Given the description of an element on the screen output the (x, y) to click on. 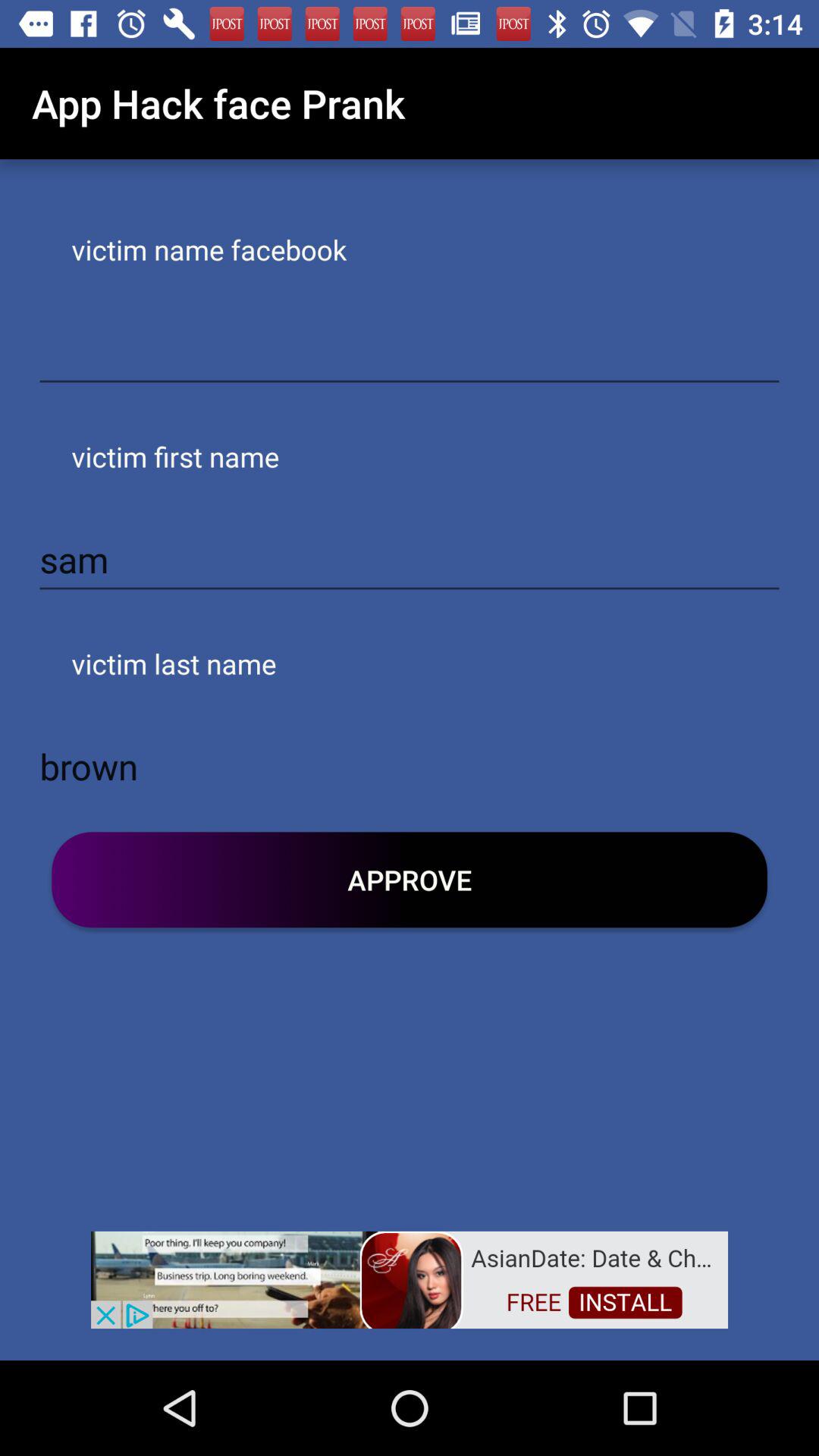
enter victim 's facebook name (409, 353)
